Given the description of an element on the screen output the (x, y) to click on. 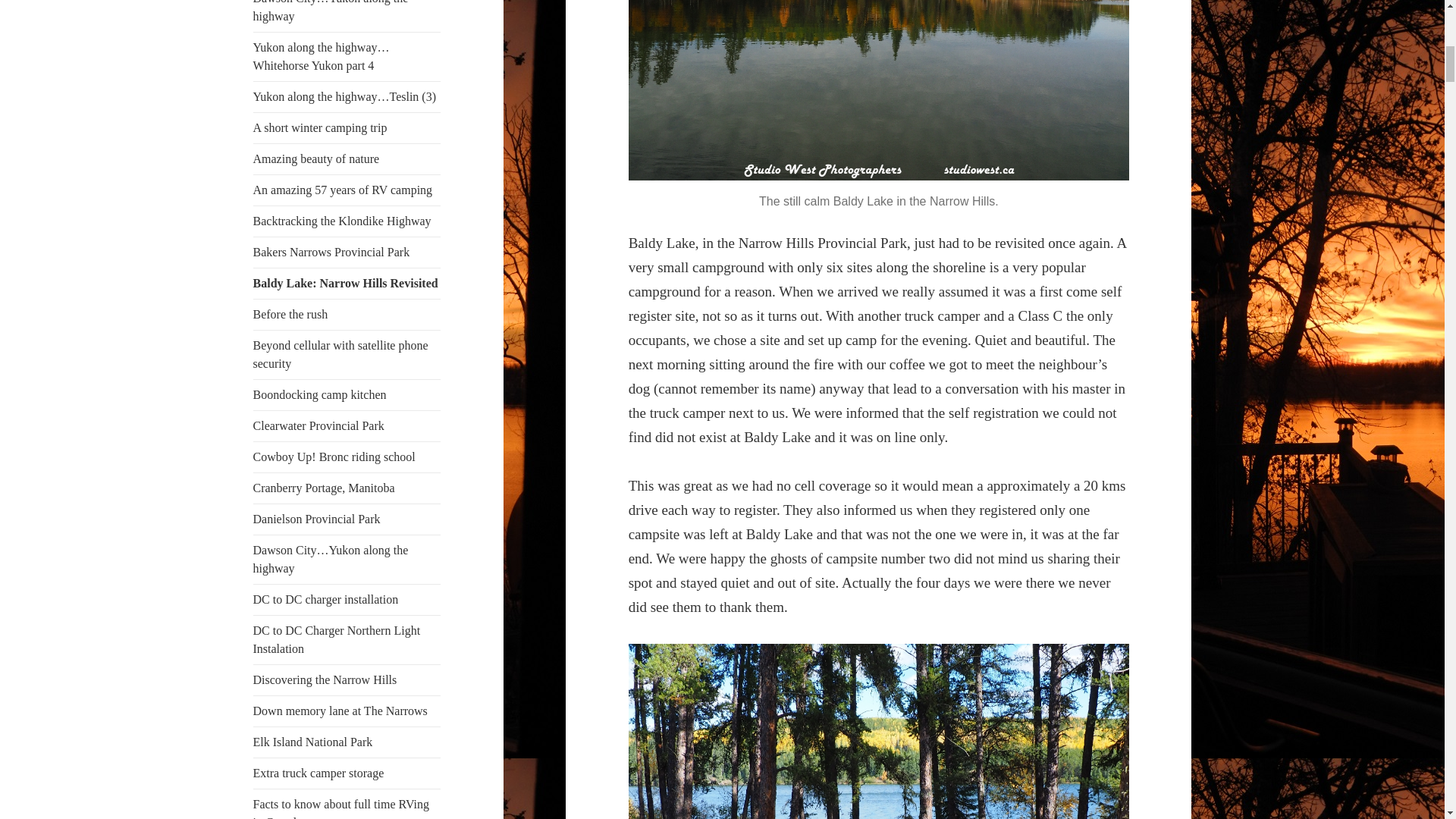
Amazing beauty of nature (347, 159)
Bakers Narrows Provincial Park (347, 252)
DC to DC Charger Northern Light Instalation (347, 639)
Boondocking camp kitchen (347, 395)
Down memory lane at The Narrows (347, 711)
Discovering the Narrow Hills (347, 680)
Clearwater Provincial Park (347, 426)
Cranberry Portage, Manitoba (347, 488)
An amazing 57 years of RV camping (347, 190)
Elk Island National Park (347, 742)
Baldy Lake: Narrow Hills Revisited (347, 283)
Before the rush (347, 314)
A short winter camping trip (347, 128)
Backtracking the Klondike Highway (347, 221)
DC to DC charger installation (347, 599)
